Given the description of an element on the screen output the (x, y) to click on. 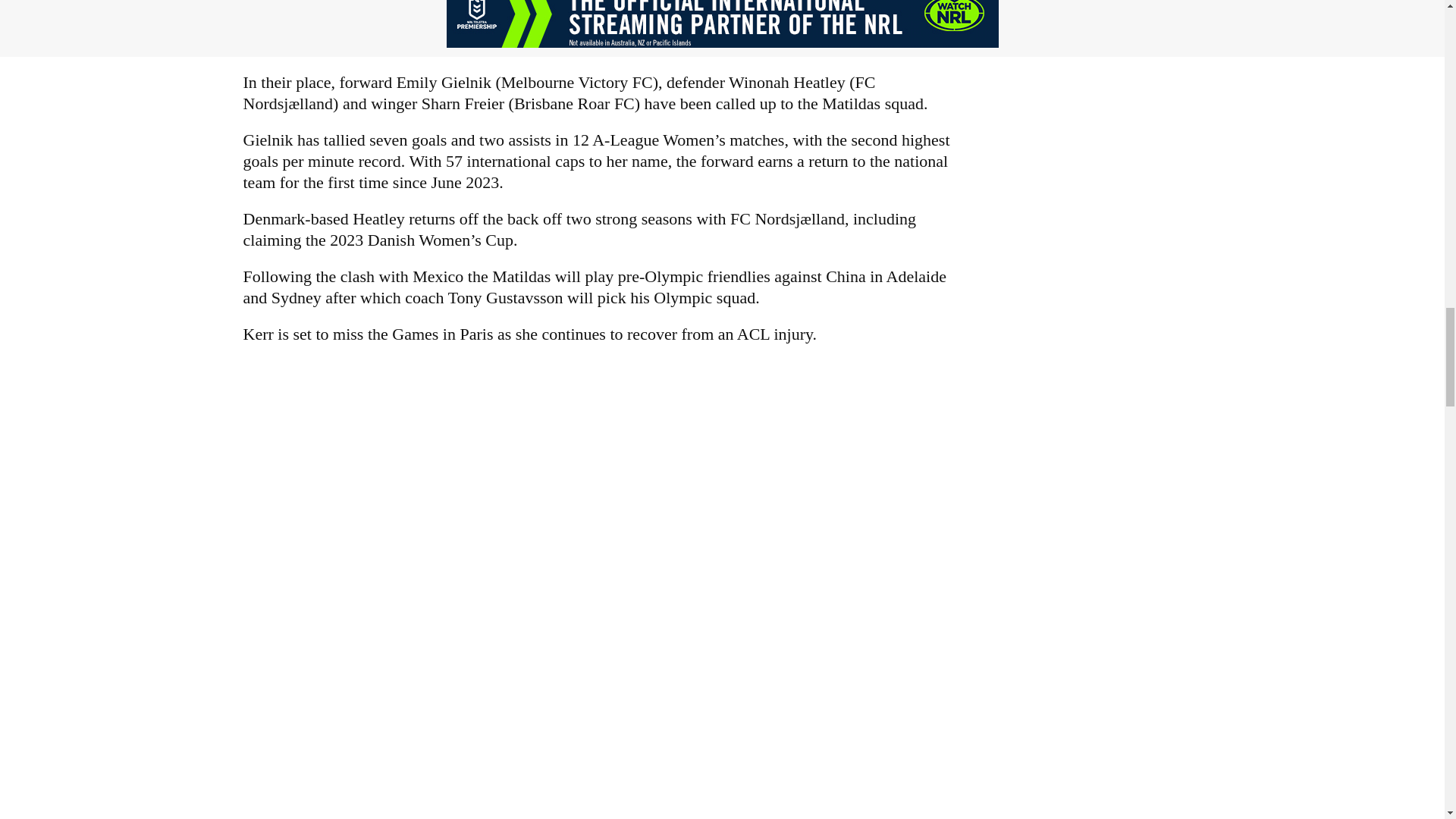
3rd party ad content (721, 23)
Newsletter (599, 797)
